Given the description of an element on the screen output the (x, y) to click on. 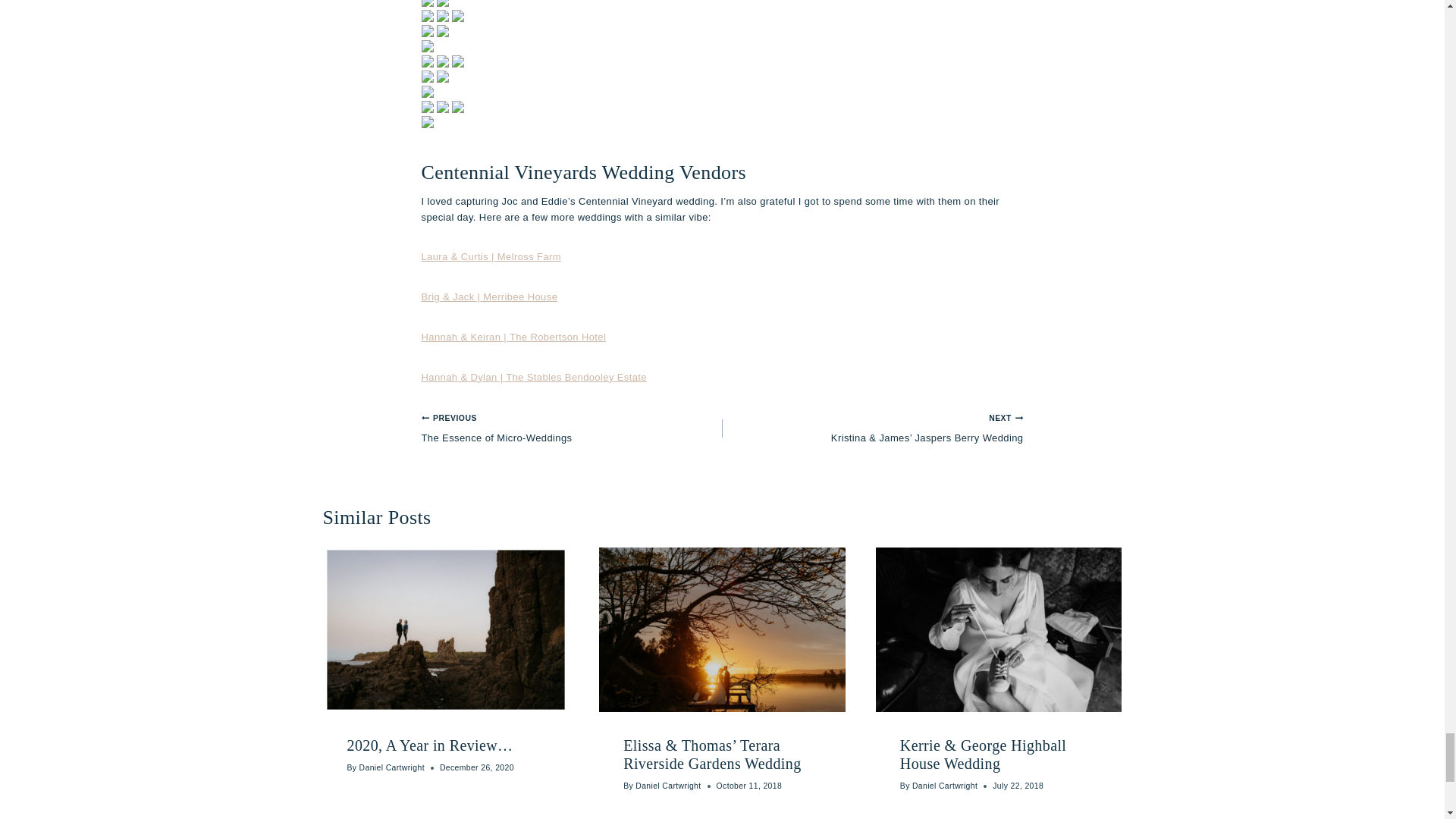
Daniel Cartwright (392, 767)
Daniel Cartwright (944, 786)
Daniel Cartwright (667, 786)
